Given the description of an element on the screen output the (x, y) to click on. 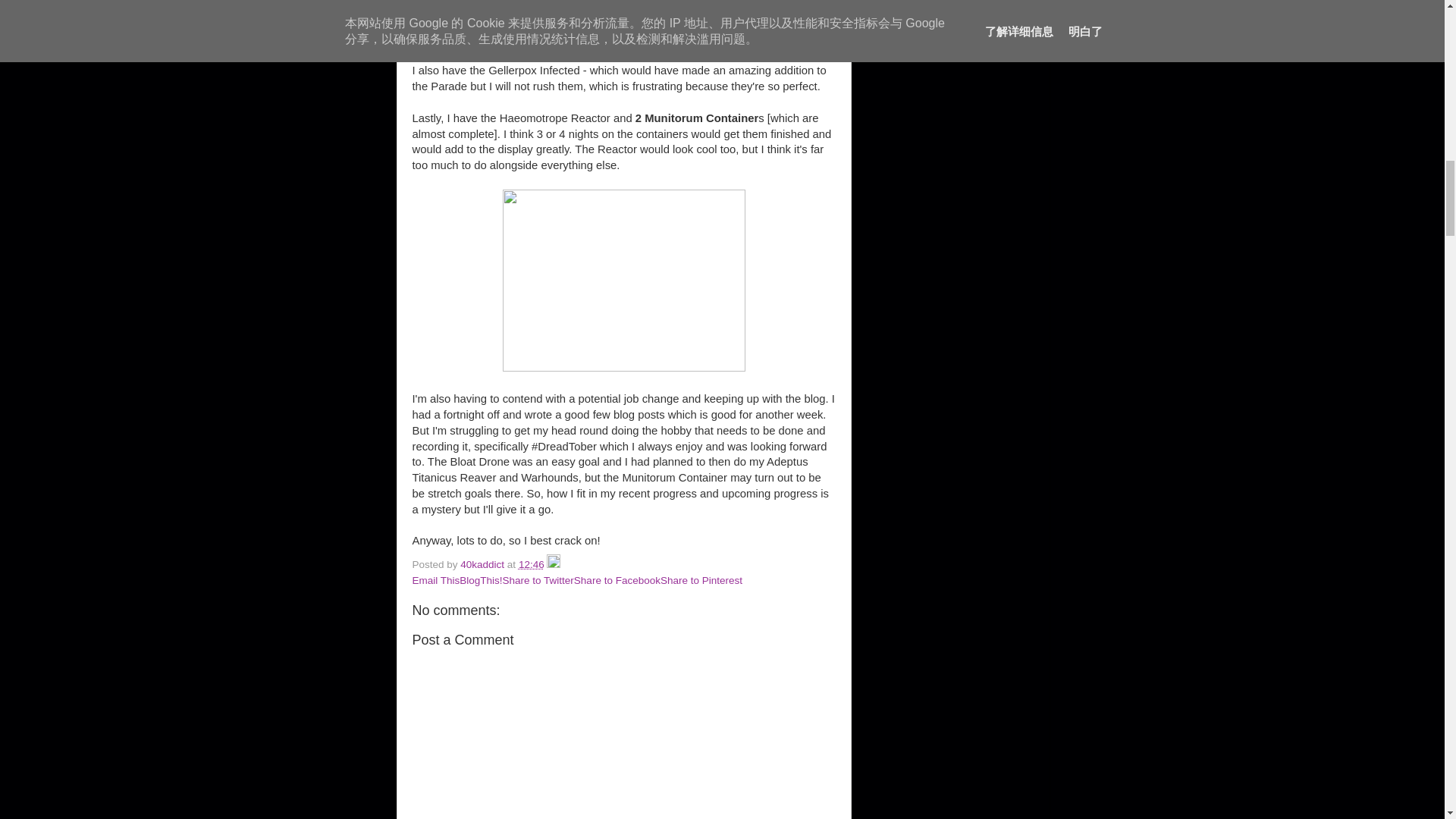
40kaddict (483, 564)
BlogThis! (481, 580)
Share to Facebook (617, 580)
Email This (436, 580)
Share to Twitter (537, 580)
12:46 (531, 564)
BlogThis! (481, 580)
permanent link (531, 564)
Share to Pinterest (701, 580)
author profile (483, 564)
Share to Facebook (617, 580)
Share to Pinterest (701, 580)
Share to Twitter (537, 580)
Email This (436, 580)
Edit Post (553, 564)
